Given the description of an element on the screen output the (x, y) to click on. 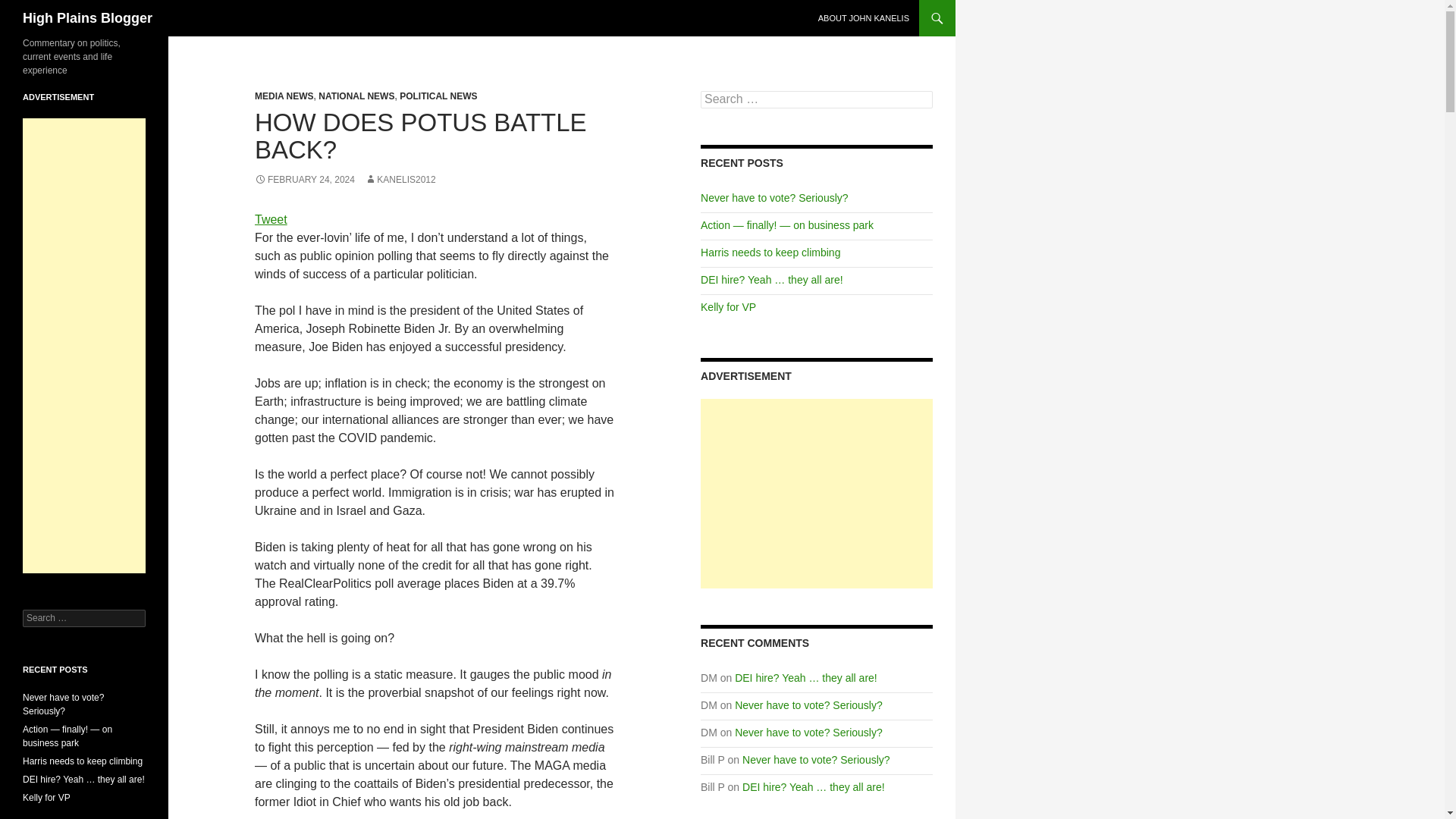
MEDIA NEWS (284, 95)
Advertisement (816, 493)
KANELIS2012 (400, 179)
ABOUT JOHN KANELIS (863, 18)
Never have to vote? Seriously? (815, 759)
Kelly for VP (727, 306)
Harris needs to keep climbing (770, 252)
FEBRUARY 24, 2024 (304, 179)
POLITICAL NEWS (437, 95)
Never have to vote? Seriously? (808, 705)
Never have to vote? Seriously? (774, 197)
Never have to vote? Seriously? (808, 732)
Search (30, 8)
Tweet (270, 219)
Advertisement (84, 345)
